Given the description of an element on the screen output the (x, y) to click on. 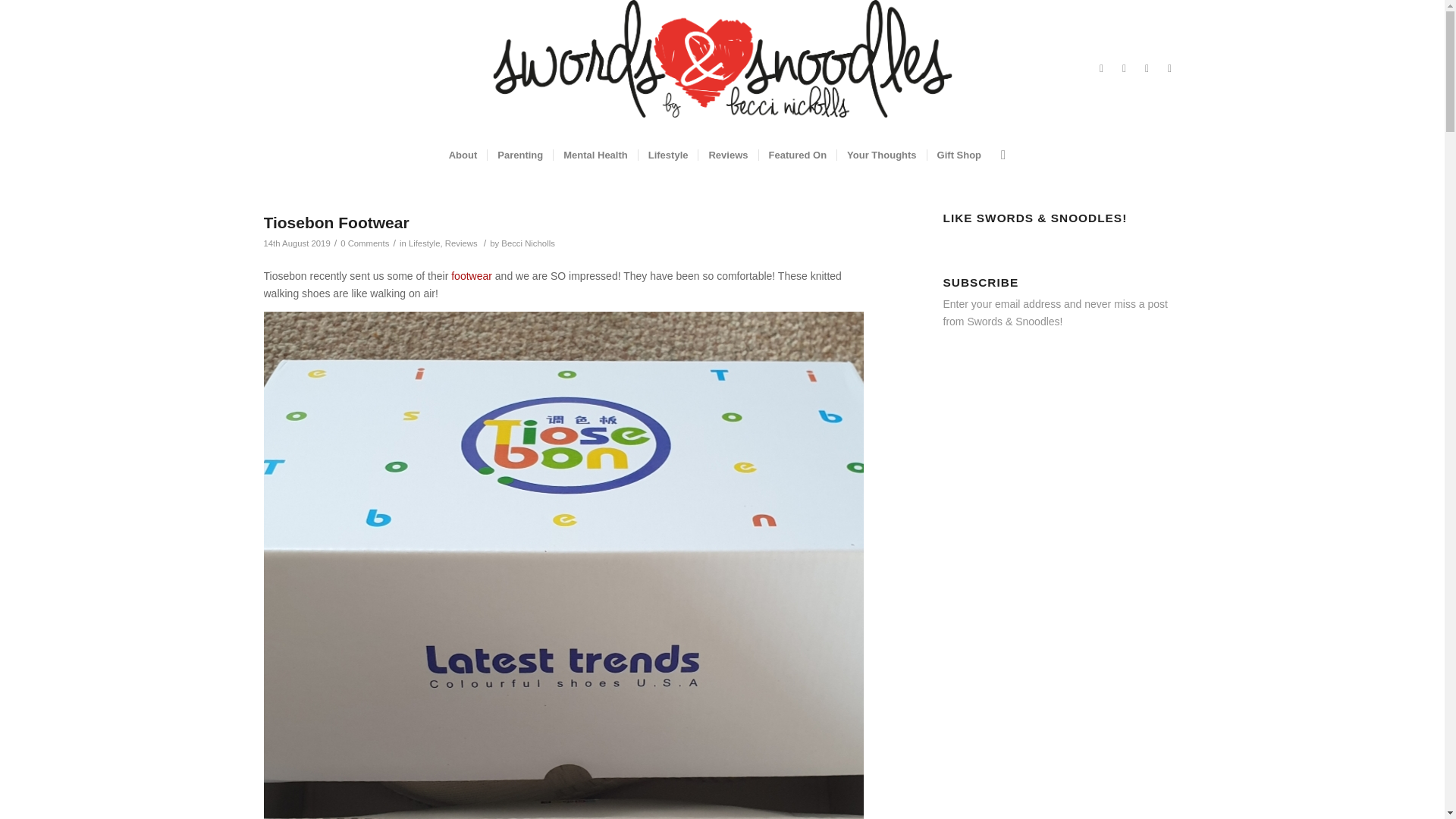
Becci Nicholls (527, 243)
Parenting (519, 155)
Facebook (1101, 67)
0 Comments (364, 243)
Mental Health (595, 155)
Gift Shop (958, 155)
Featured On (797, 155)
Instagram (1146, 67)
footwear (471, 275)
Reviews (727, 155)
Permanent Link: Tiosebon Footwear (336, 221)
Reviews (461, 243)
Posts by Becci Nicholls (527, 243)
Lifestyle (425, 243)
Lifestyle (667, 155)
